Given the description of an element on the screen output the (x, y) to click on. 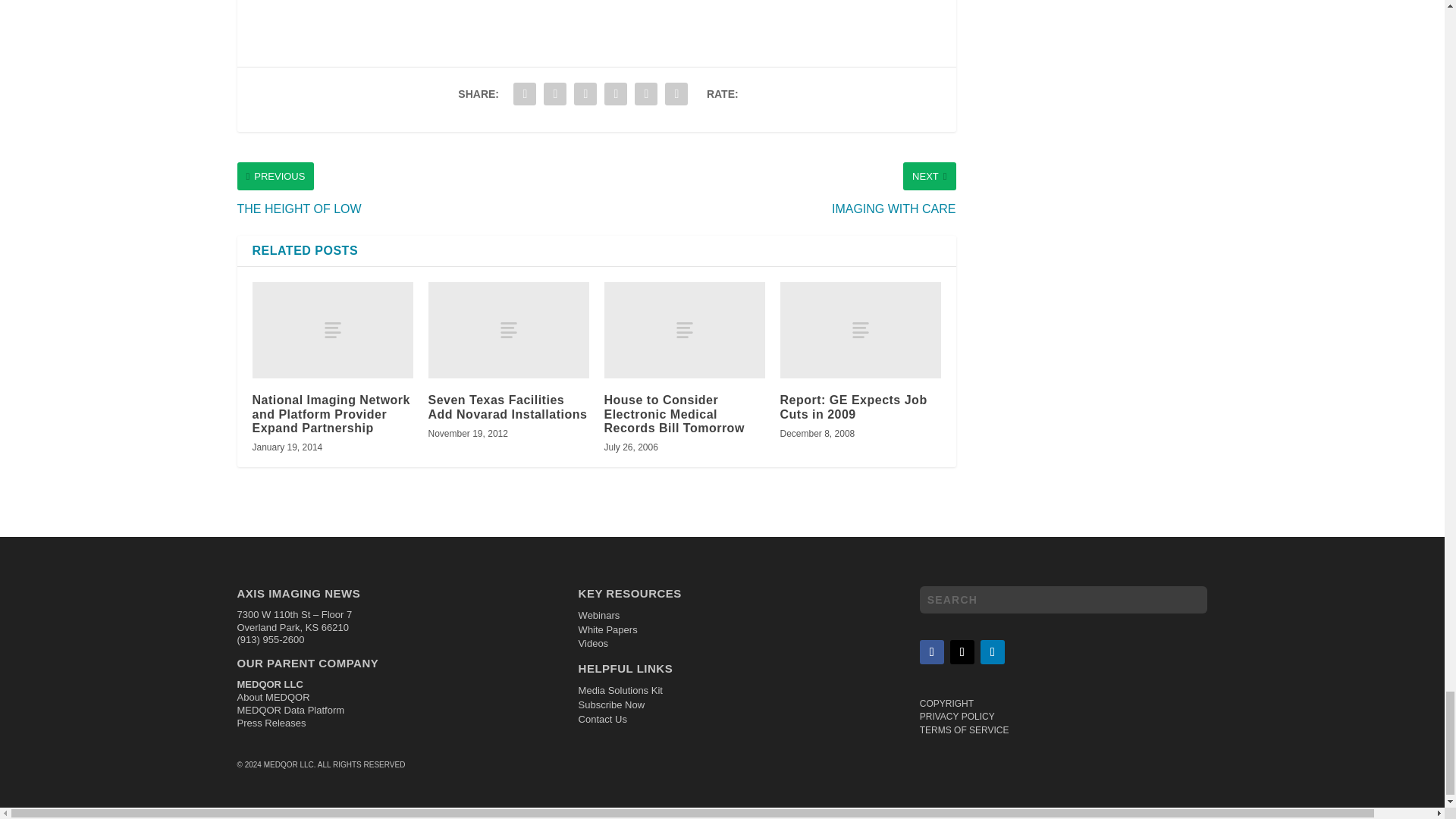
Share "SOCIAL MEDIA MANIA" via Twitter (555, 93)
Share "SOCIAL MEDIA MANIA" via Buffer (614, 93)
Follow on Facebook (931, 651)
Share "SOCIAL MEDIA MANIA" via LinkedIn (584, 93)
Share "SOCIAL MEDIA MANIA" via Facebook (524, 93)
House to Consider Electronic Medical Records Bill Tomorrow (684, 329)
Share "SOCIAL MEDIA MANIA" via Email (645, 93)
Seven Texas Facilities Add Novarad Installations (508, 329)
Share "SOCIAL MEDIA MANIA" via Print (676, 93)
